Given the description of an element on the screen output the (x, y) to click on. 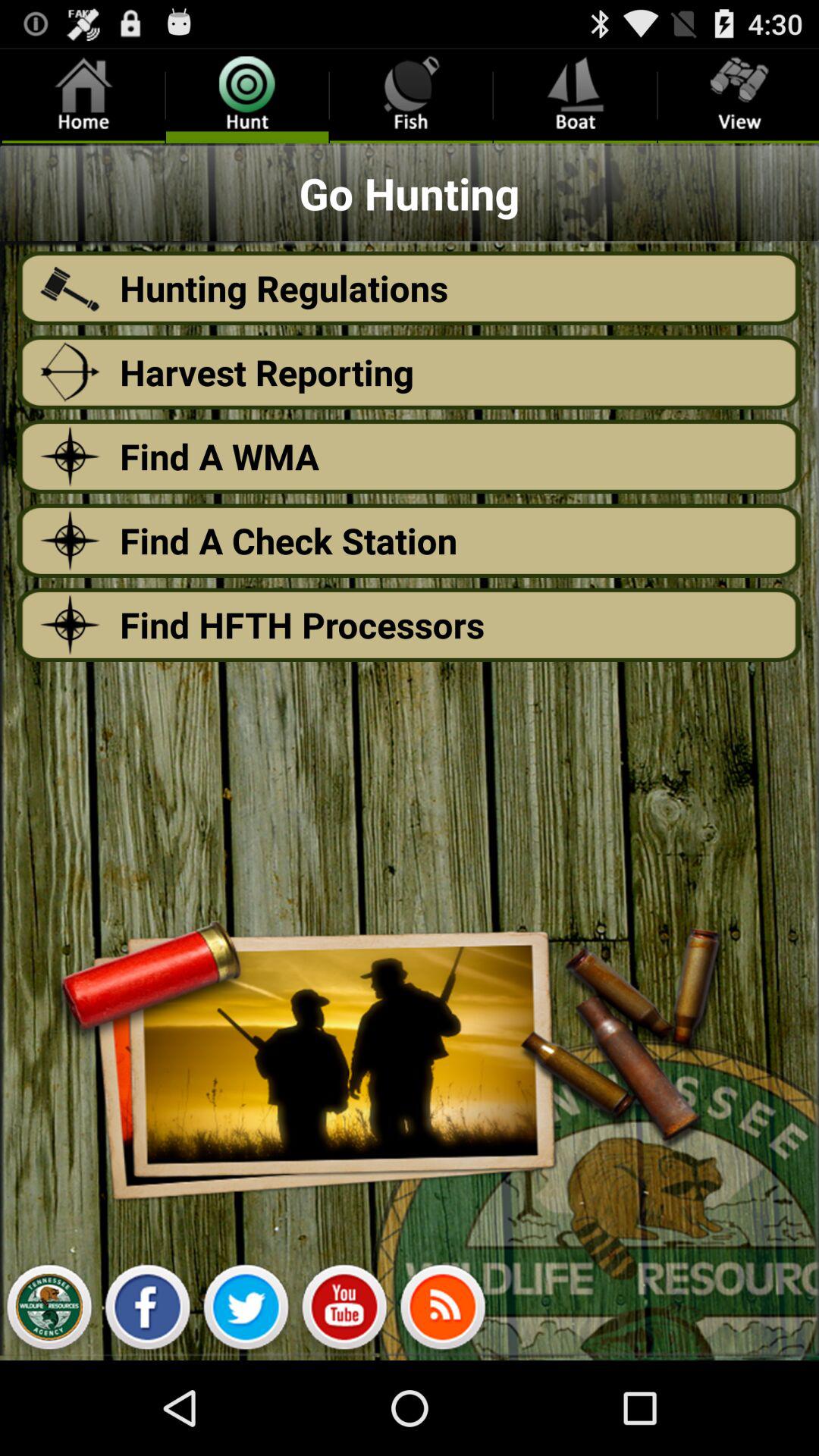
click youtube icon (344, 1311)
